Given the description of an element on the screen output the (x, y) to click on. 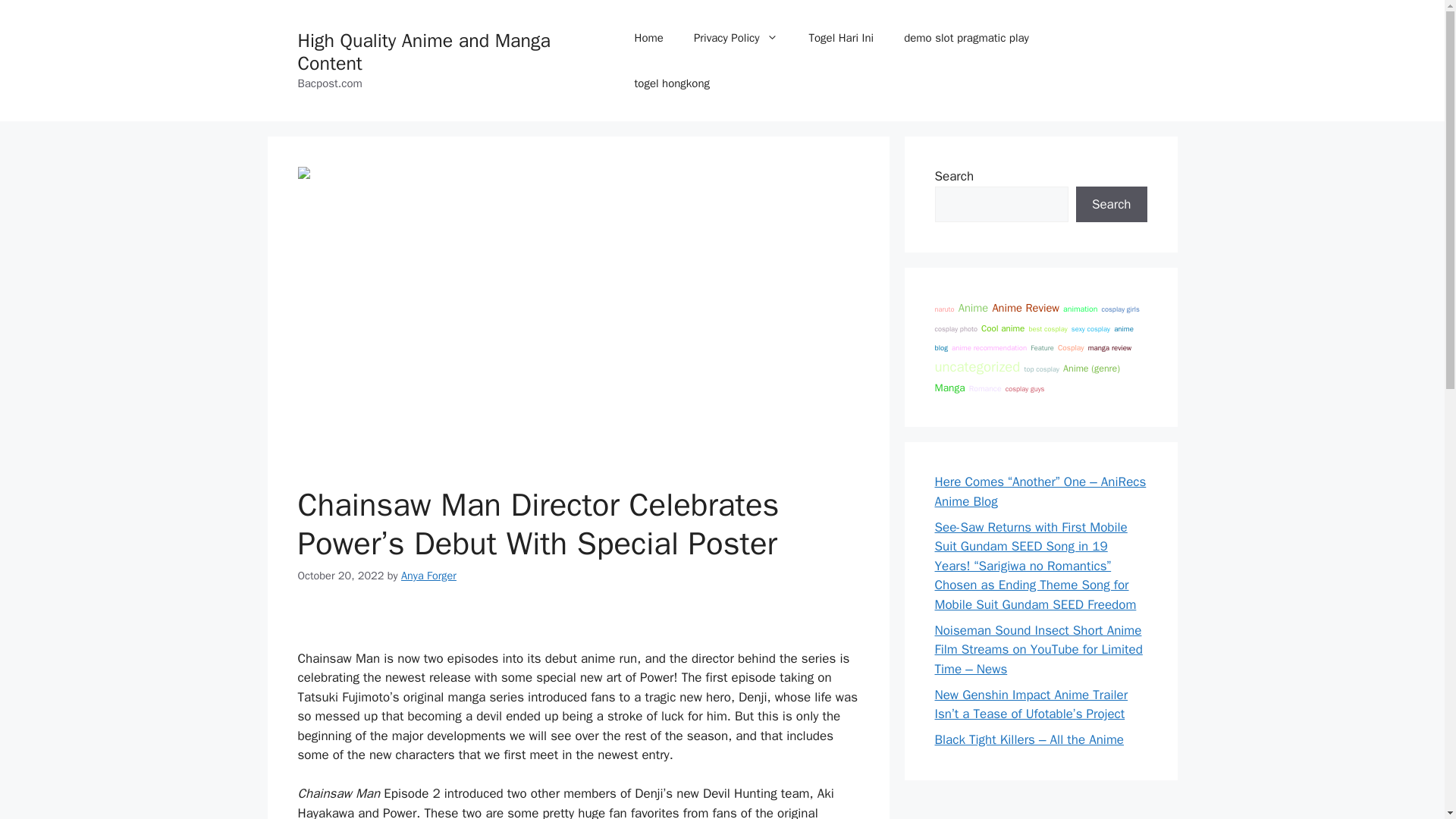
Anya Forger (429, 575)
Privacy Policy (735, 37)
cosplay girls (1119, 308)
Anime (973, 307)
anime recommendation (989, 347)
demo slot pragmatic play (965, 37)
Togel Hari Ini (840, 37)
cosplay photo (955, 328)
High Quality Anime and Manga Content (423, 51)
togel hongkong (672, 83)
Search (1111, 204)
View all posts by Anya Forger (429, 575)
Home (649, 37)
Anime Review (1025, 307)
animation (1079, 308)
